Given the description of an element on the screen output the (x, y) to click on. 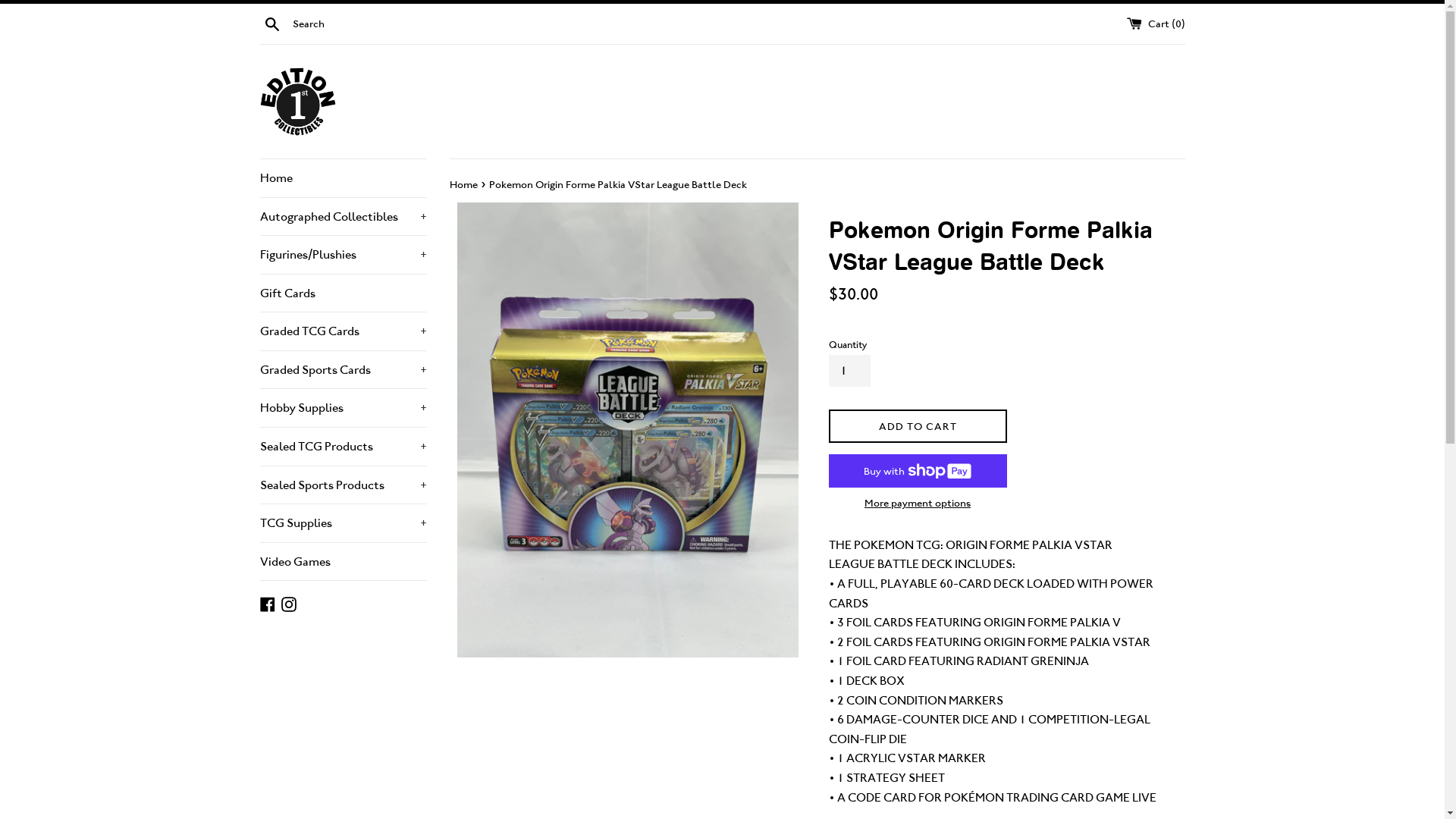
TCG Supplies
+ Element type: text (342, 523)
Gift Cards Element type: text (342, 293)
Graded Sports Cards
+ Element type: text (342, 370)
Sealed Sports Products
+ Element type: text (342, 485)
Home Element type: text (463, 184)
More payment options Element type: text (917, 502)
Sealed TCG Products
+ Element type: text (342, 446)
Figurines/Plushies
+ Element type: text (342, 254)
Instagram Element type: text (287, 602)
Search Element type: text (271, 22)
ADD TO CART Element type: text (917, 426)
Graded TCG Cards
+ Element type: text (342, 331)
Home Element type: text (342, 178)
Facebook Element type: text (266, 602)
Cart (0) Element type: text (1155, 22)
Hobby Supplies
+ Element type: text (342, 407)
Autographed Collectibles
+ Element type: text (342, 216)
Video Games Element type: text (342, 561)
